Given the description of an element on the screen output the (x, y) to click on. 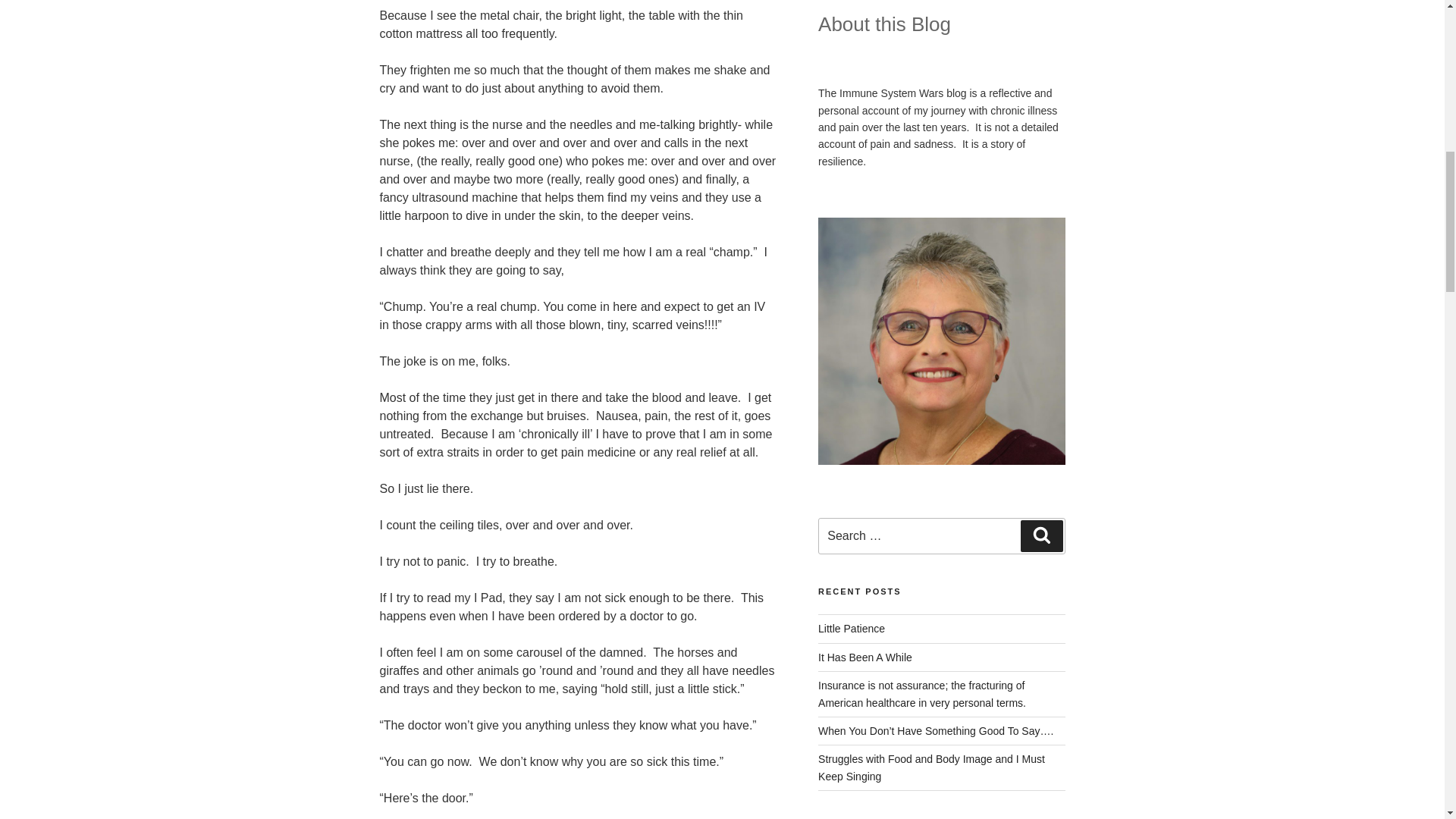
Struggles with Food and Body Image and I Must Keep Singing (931, 767)
Search (1041, 536)
It Has Been A While (865, 657)
Little Patience (851, 628)
